Given the description of an element on the screen output the (x, y) to click on. 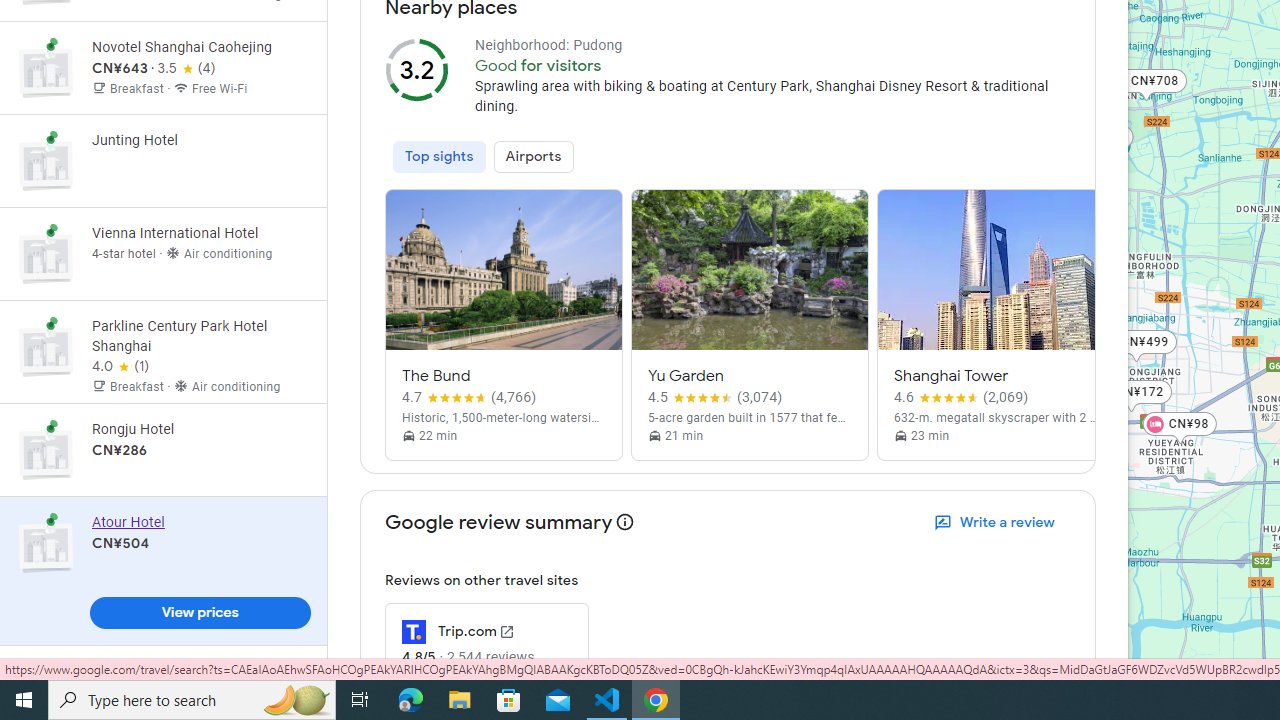
Airports (532, 156)
View prices for Novotel Shanghai Caohejing (200, 137)
View prices for Junting Hotel (200, 230)
View prices (200, 612)
